Given the description of an element on the screen output the (x, y) to click on. 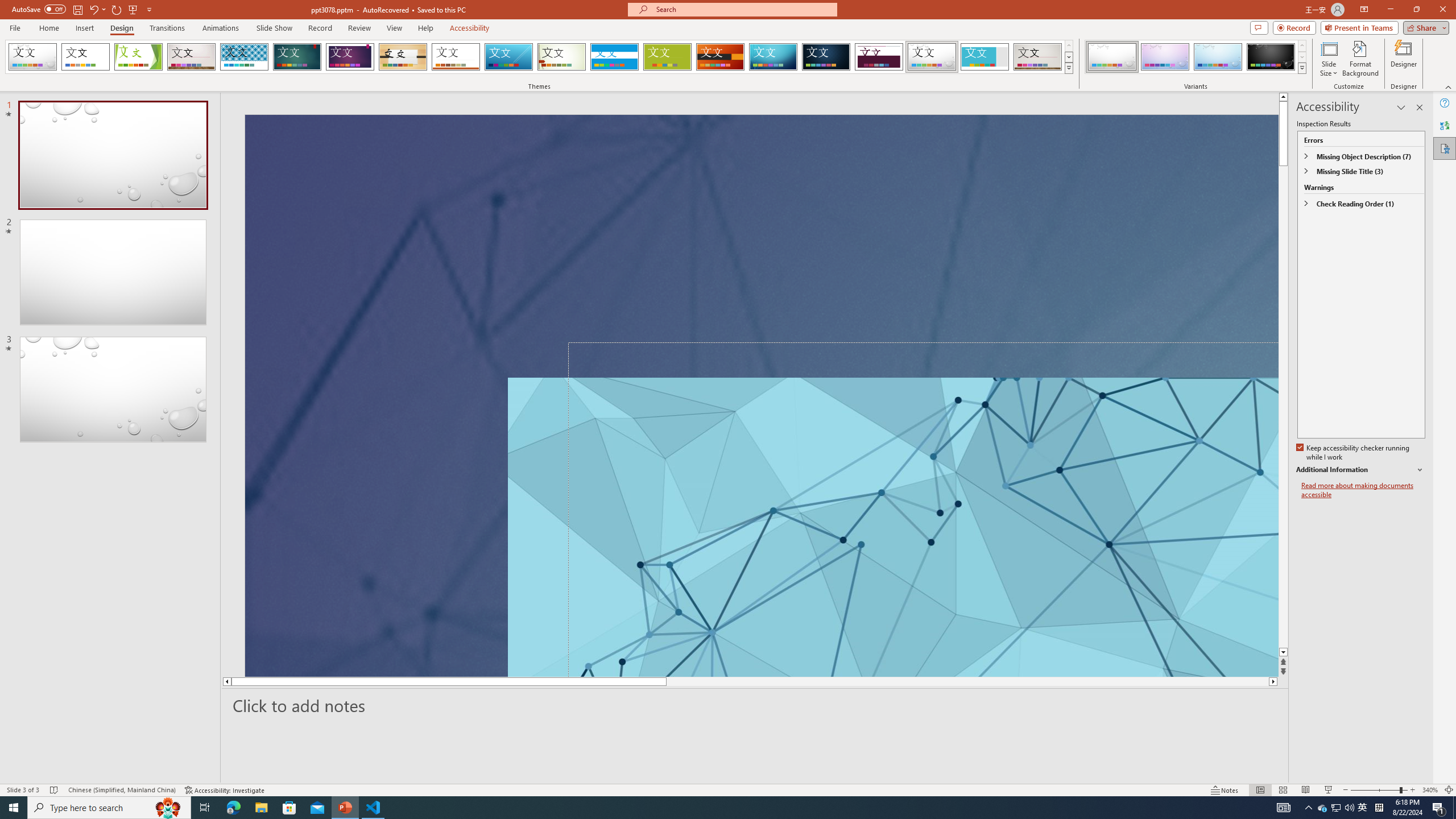
Additional Information (1360, 469)
Circuit (772, 56)
Ion Boardroom (350, 56)
Droplet Variant 1 (1112, 56)
Ion (296, 56)
